Given the description of an element on the screen output the (x, y) to click on. 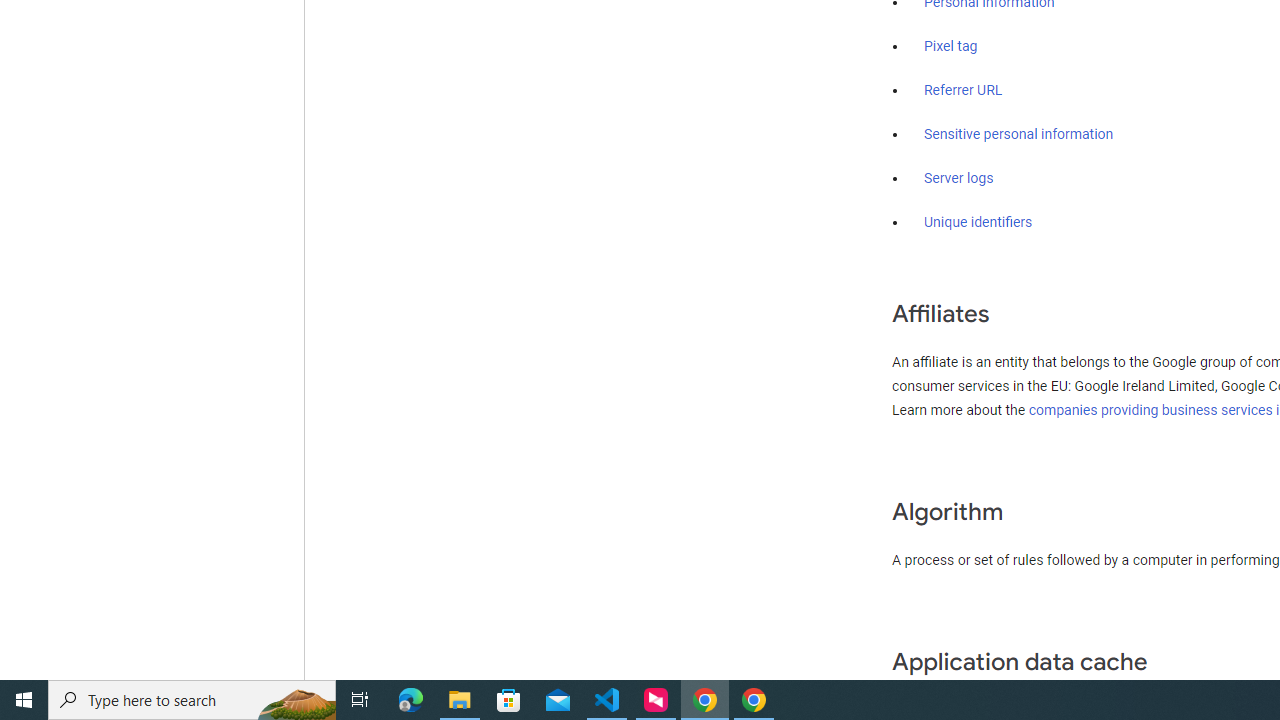
Referrer URL (963, 91)
Unique identifiers (978, 222)
Sensitive personal information (1018, 134)
Server logs (959, 178)
Pixel tag (950, 47)
